Given the description of an element on the screen output the (x, y) to click on. 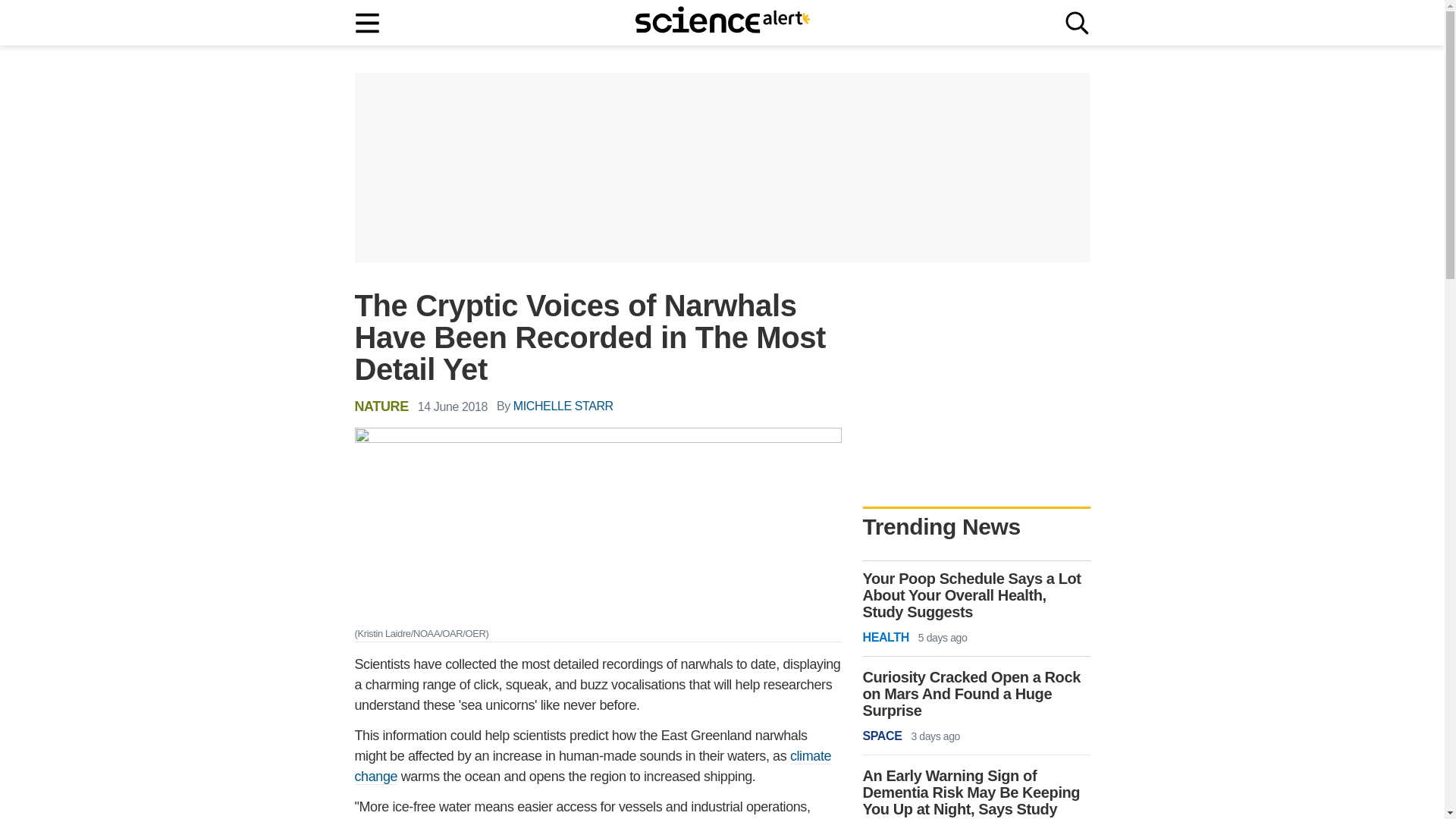
MICHELLE STARR (562, 405)
climate change (593, 766)
NATURE (382, 406)
